Given the description of an element on the screen output the (x, y) to click on. 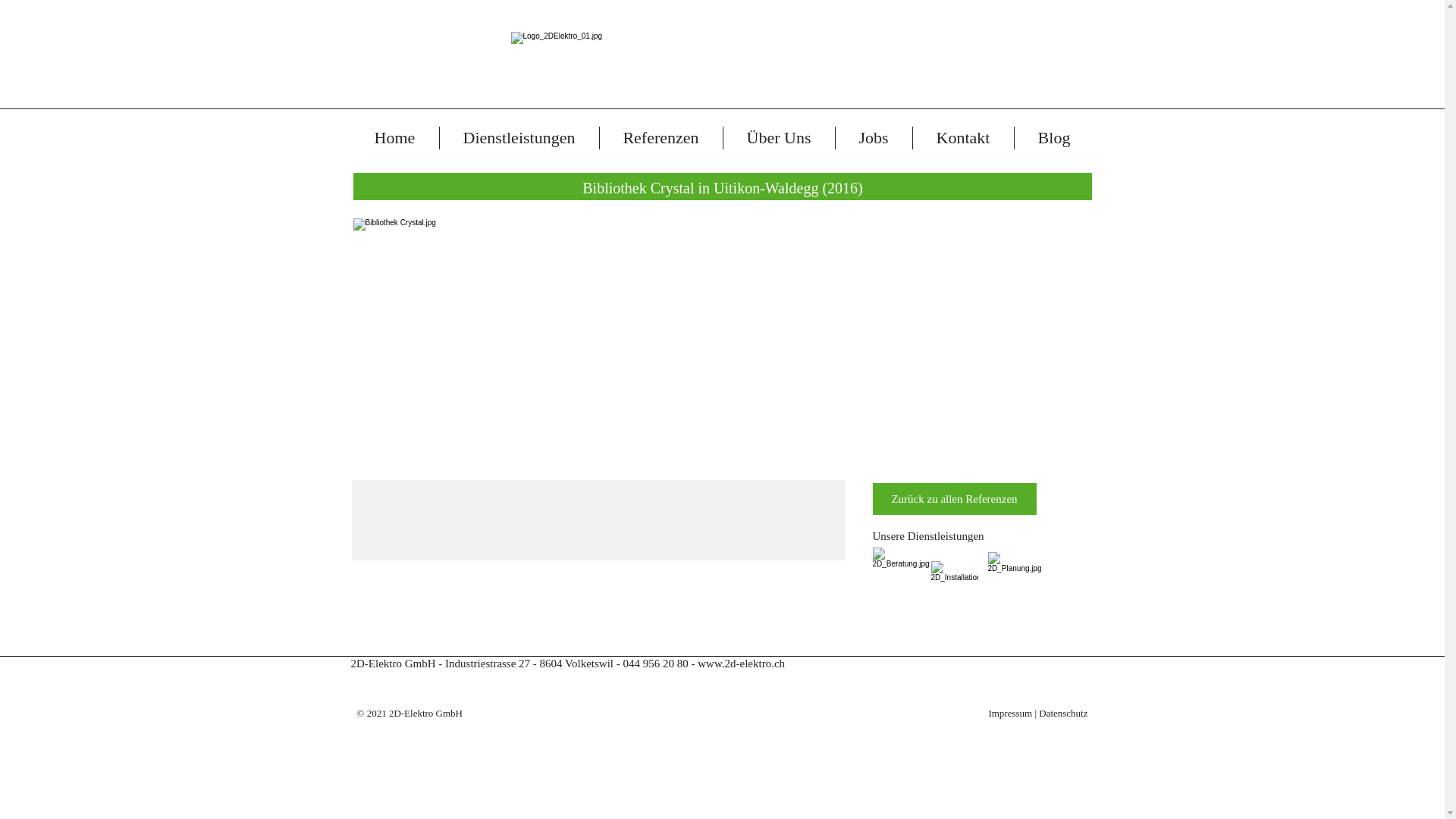
Dienstleistungen Element type: text (519, 137)
Kontakt Element type: text (963, 137)
Referenzen Element type: text (660, 137)
Blog Element type: text (1054, 137)
 www.2d-elektro.ch Element type: text (739, 663)
Jobs Element type: text (873, 137)
Home Element type: text (394, 137)
044 956 20 80 - Element type: text (658, 663)
